Given the description of an element on the screen output the (x, y) to click on. 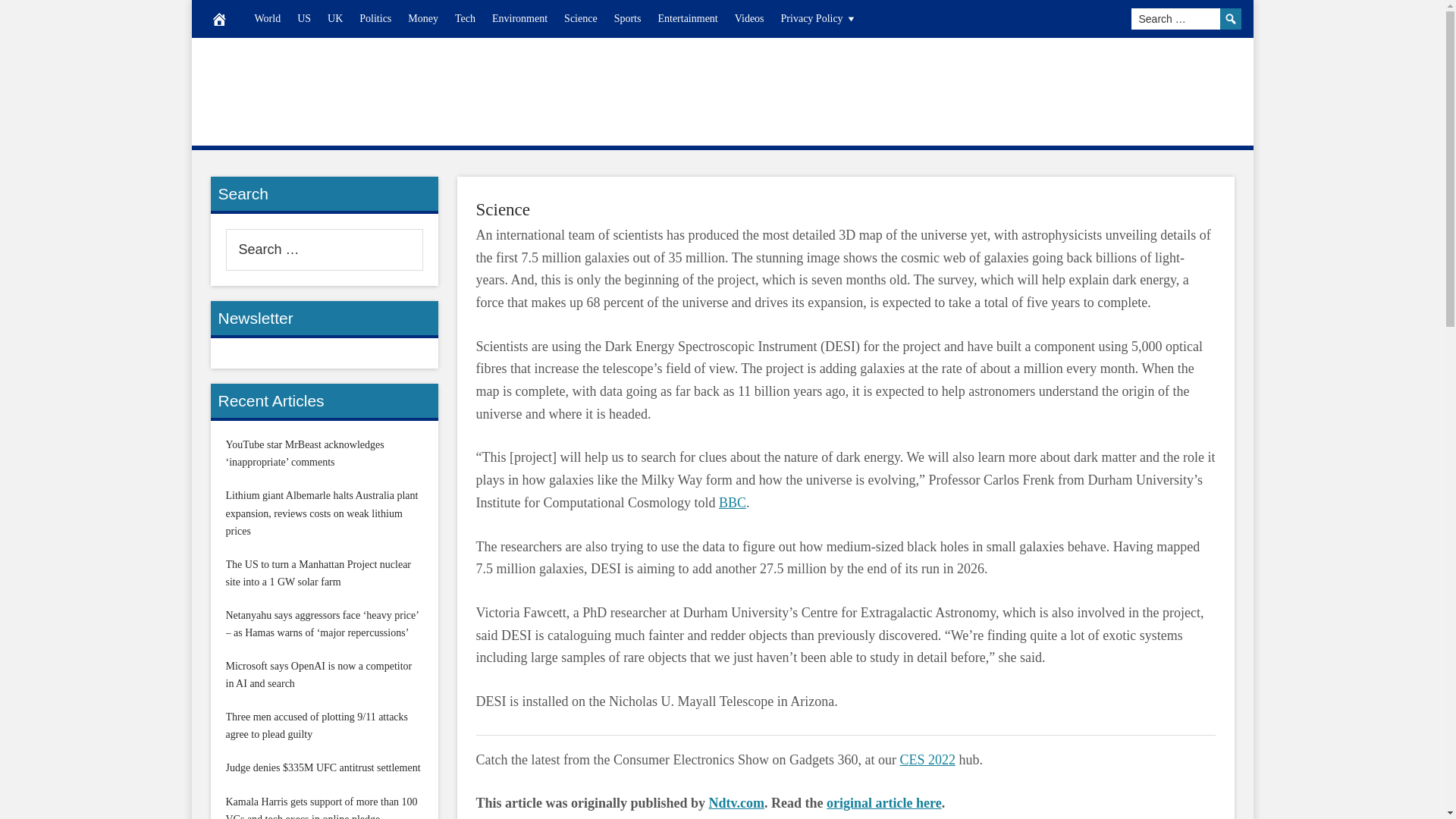
Politics (374, 18)
Science (503, 209)
Science (580, 18)
Privacy Policy (819, 18)
World (267, 18)
Sports (627, 18)
Science (503, 209)
Videos (749, 18)
